Given the description of an element on the screen output the (x, y) to click on. 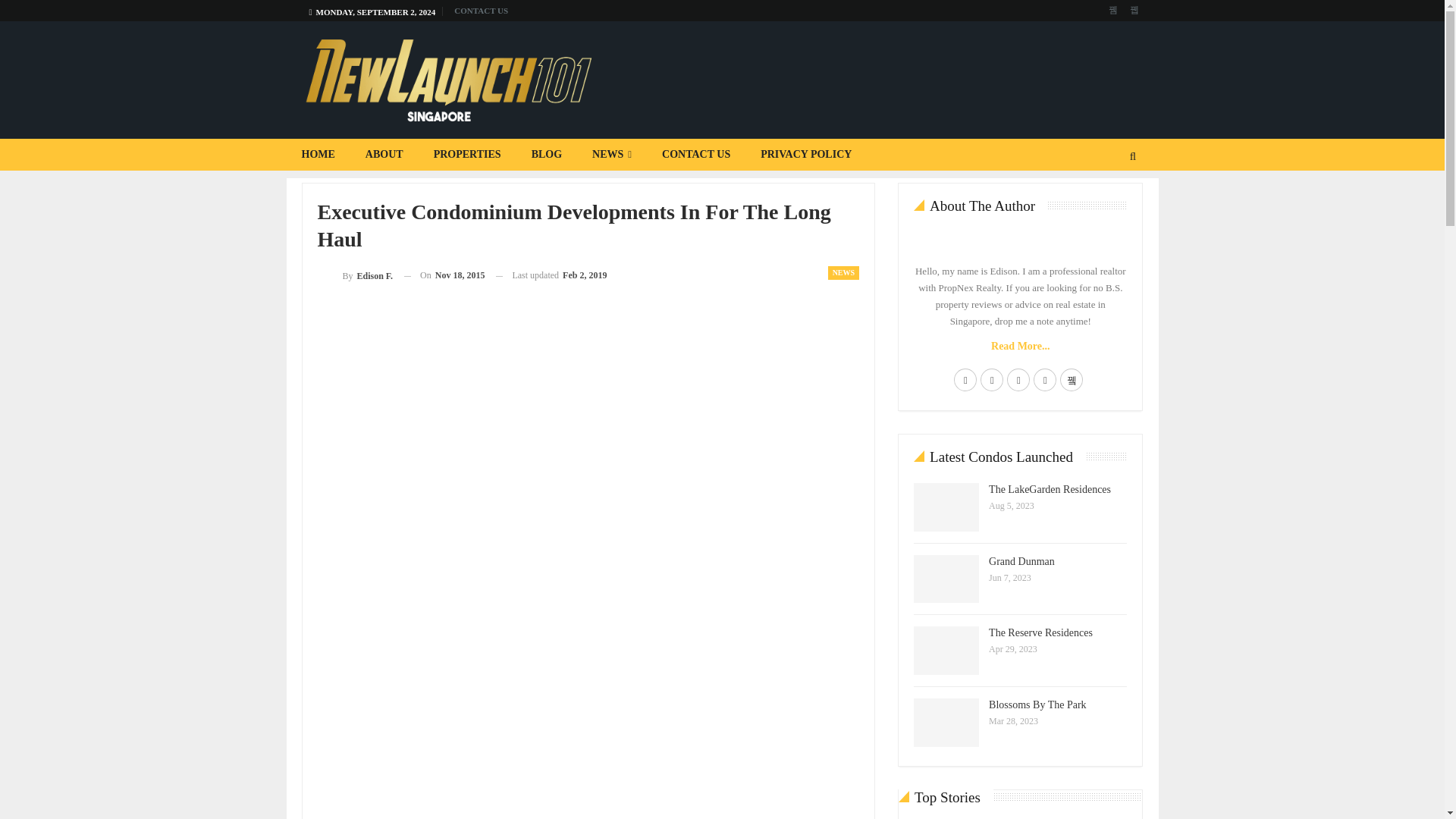
CONTACT US (481, 10)
CONTACT US (695, 154)
HOME (318, 154)
PRIVACY POLICY (805, 154)
By Edison F. (355, 275)
NEWS (843, 273)
Browse Author Articles (355, 275)
ABOUT (384, 154)
BLOG (546, 154)
NEWS (611, 154)
